Given the description of an element on the screen output the (x, y) to click on. 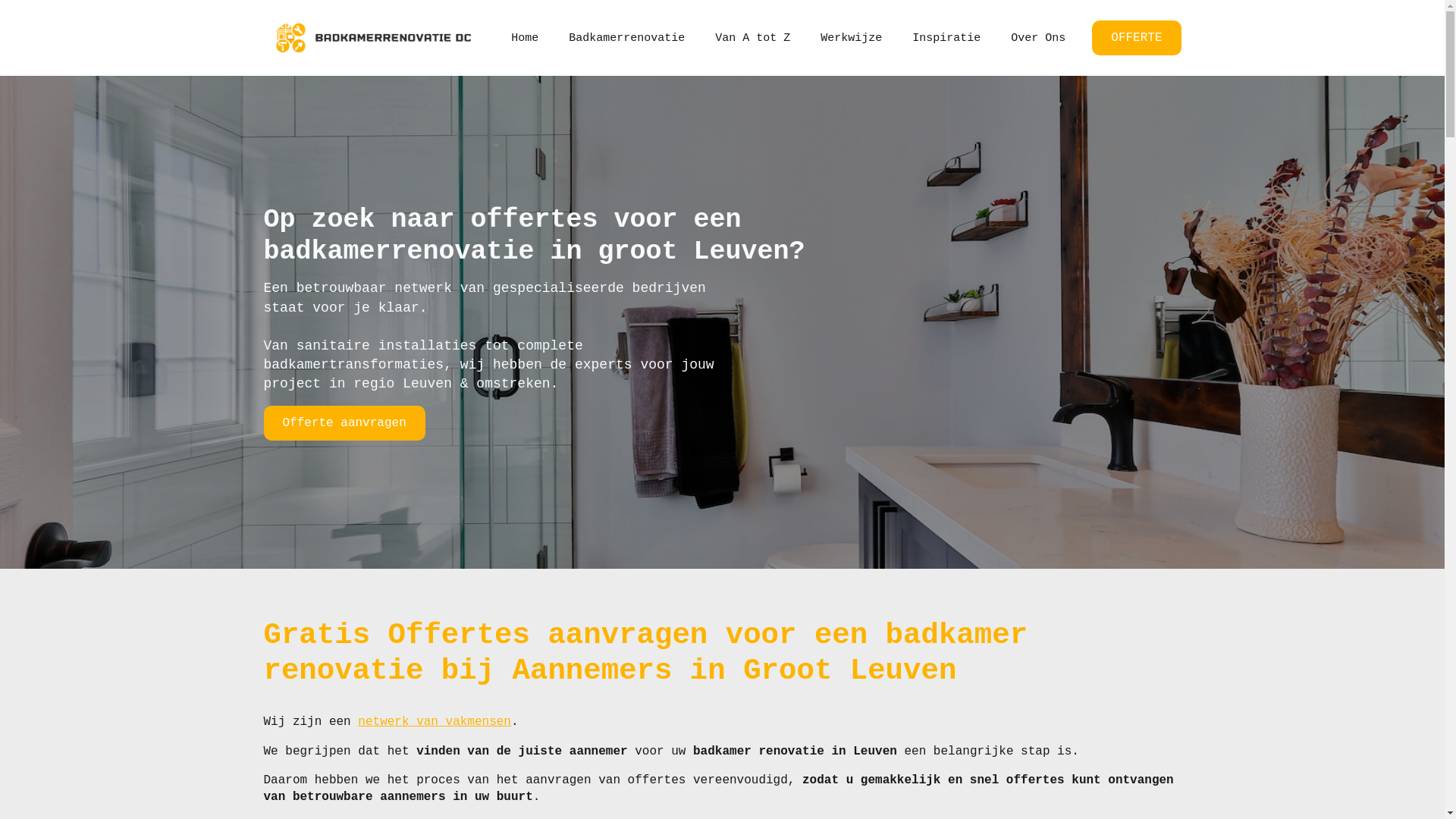
netwerk van vakmensen Element type: text (434, 721)
Over Ons Element type: text (1037, 37)
Home Element type: text (524, 37)
Werkwijze Element type: text (851, 37)
Inspiratie Element type: text (946, 37)
Offerte aanvragen Element type: text (344, 422)
OFFERTE Element type: text (1136, 37)
Badkamerrenovatie Element type: text (626, 37)
Van A tot Z Element type: text (752, 37)
